Given the description of an element on the screen output the (x, y) to click on. 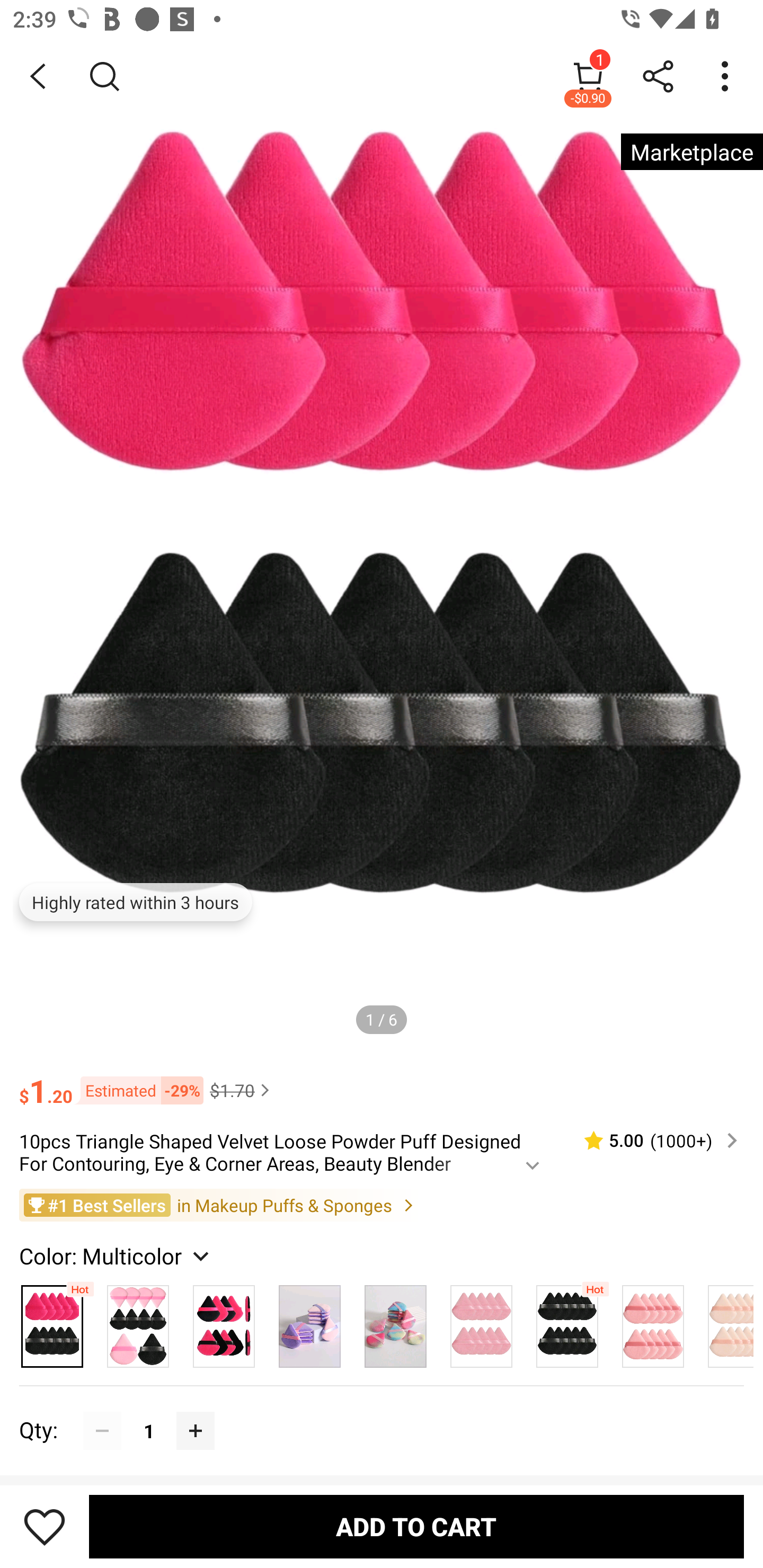
BACK (38, 75)
1 -$0.90 (588, 75)
1 / 6 (381, 1018)
$1.20 Estimated -29% $1.70 (381, 1082)
Estimated -29% (137, 1089)
$1.70 (241, 1090)
5.00 (1000‎+) (653, 1139)
#1 Best Sellers in Makeup Puffs & Sponges (381, 1204)
Color: Multicolor (116, 1255)
Multicolor (138, 1321)
Multicolor (224, 1321)
Multicolor (309, 1321)
Multicolor (395, 1321)
Multicolor (481, 1321)
Black (567, 1321)
Multicolor (652, 1321)
Multicolor (724, 1321)
Qty: 1 (381, 1411)
ADD TO CART (416, 1526)
Save (44, 1526)
